Given the description of an element on the screen output the (x, y) to click on. 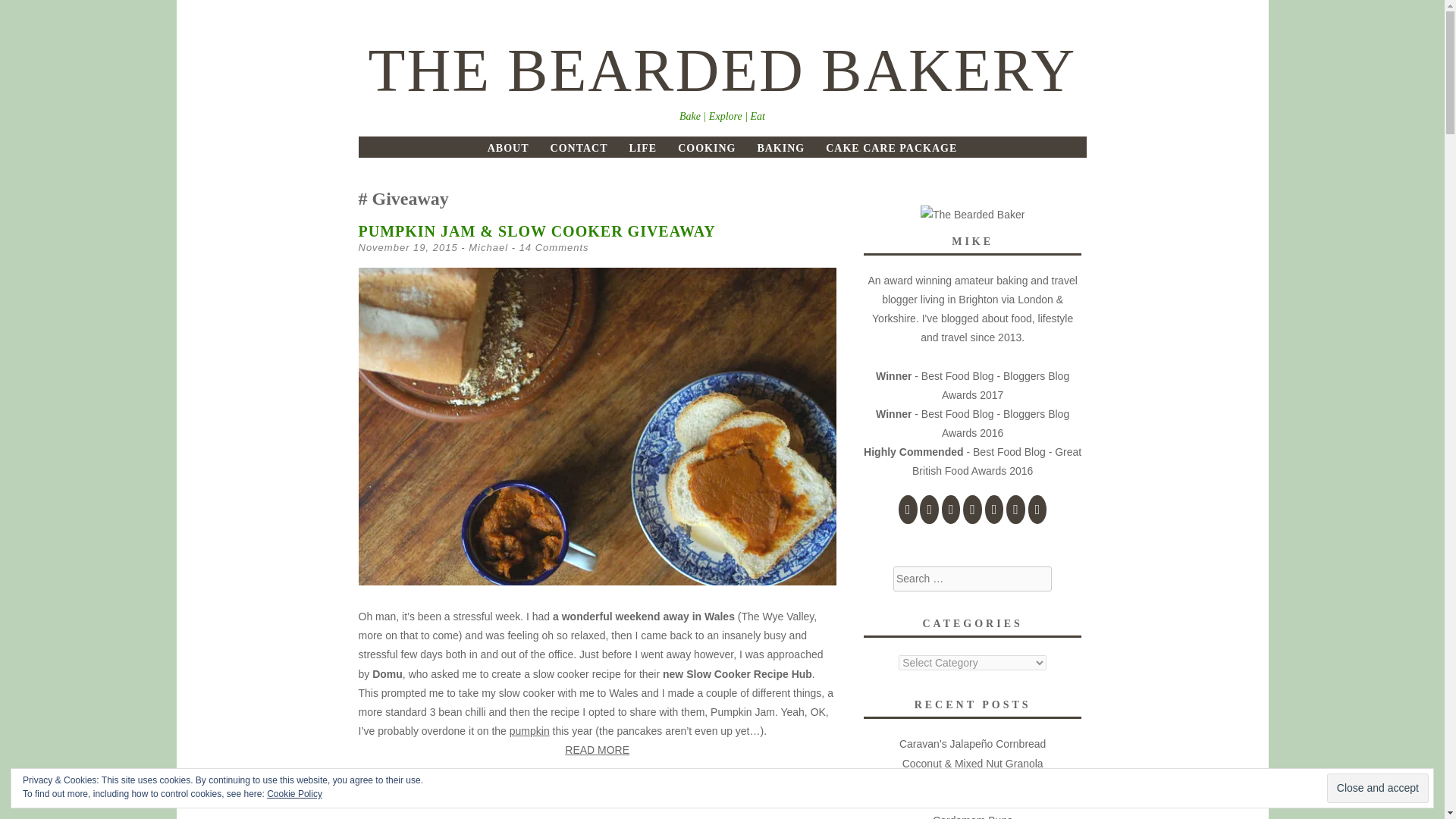
pumpkin (529, 730)
Cooking (425, 789)
November 19, 2015 (407, 247)
LIFE (642, 147)
14 Comments (554, 247)
CAKE CARE PACKAGE (890, 147)
Close and accept (1377, 788)
COOKING (706, 147)
pumpkin (584, 789)
ABOUT (508, 147)
CONTACT (579, 147)
READ MORE (596, 750)
giveaway (513, 789)
BAKING (781, 147)
